Given the description of an element on the screen output the (x, y) to click on. 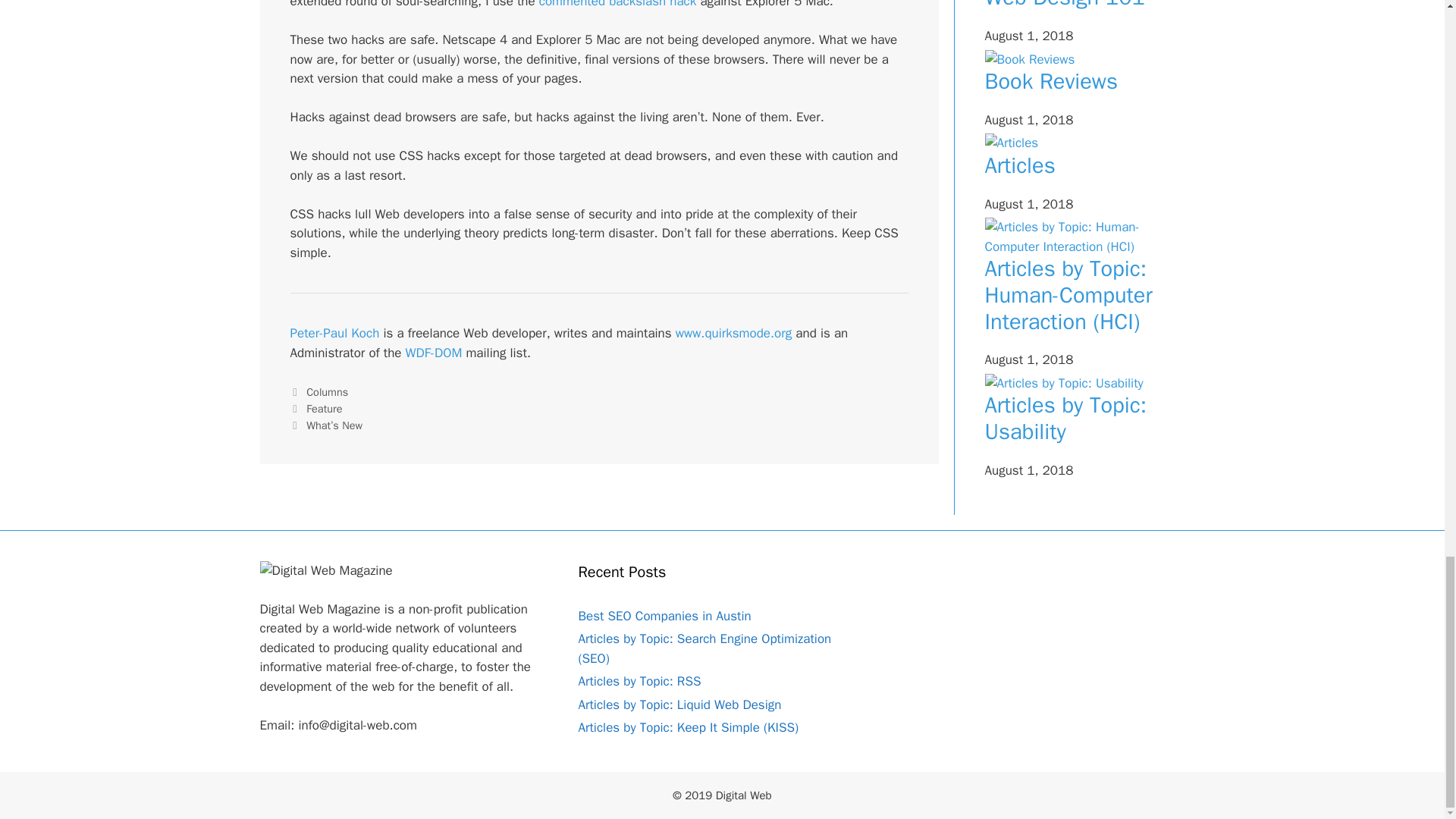
Peter-Paul Koch (333, 333)
Feature (323, 408)
commented backslash hack (616, 4)
www.quirksmode.org (733, 333)
WDF-DOM (434, 352)
Columns (326, 391)
Next (325, 425)
Previous (315, 408)
